Given the description of an element on the screen output the (x, y) to click on. 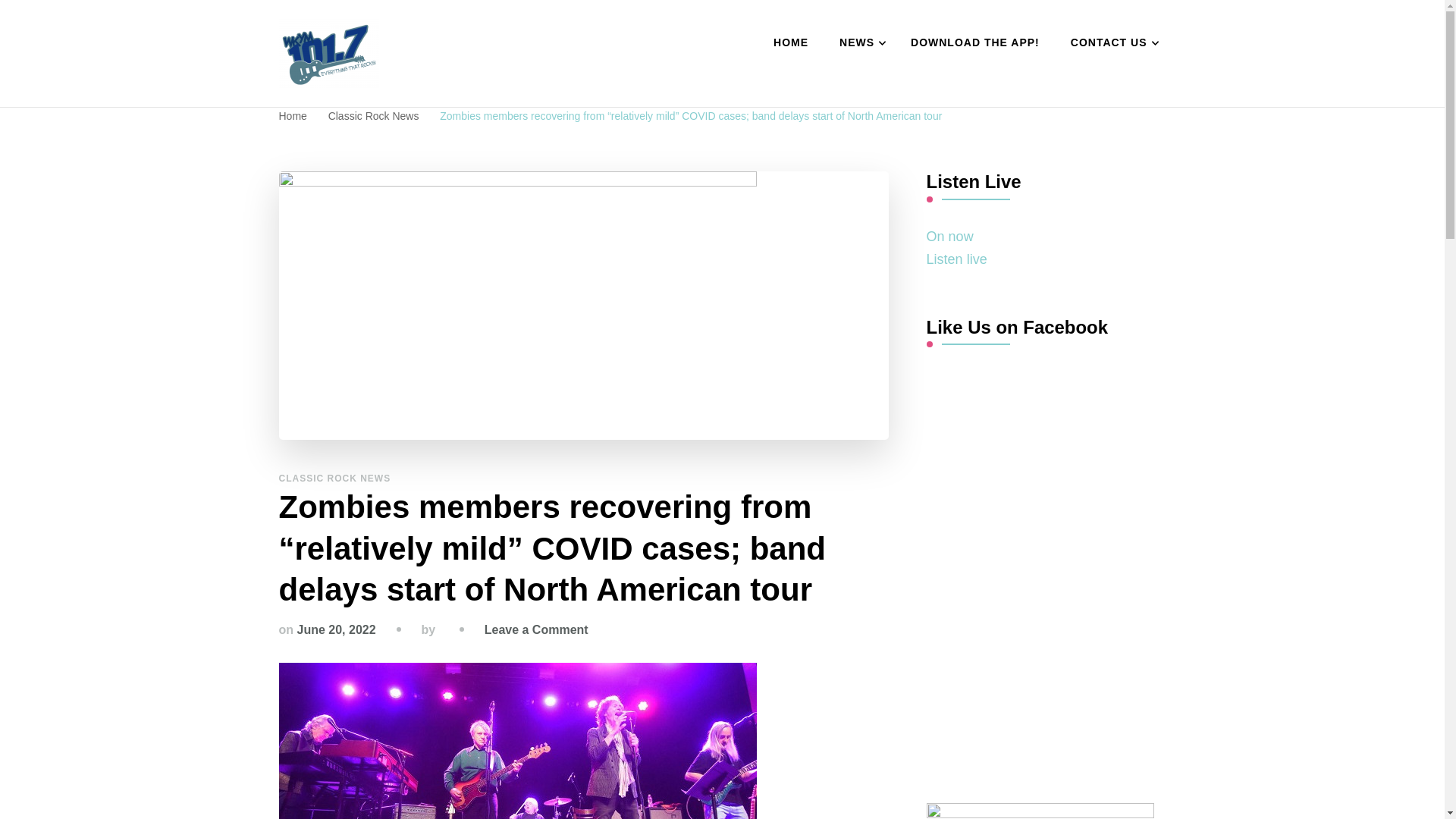
Classic Rock News (375, 115)
DOWNLOAD THE APP! (974, 43)
WKYM 101.7 (380, 104)
CONTACT US (1111, 43)
CLASSIC ROCK NEWS (335, 478)
Home (293, 115)
June 20, 2022 (336, 629)
